Given the description of an element on the screen output the (x, y) to click on. 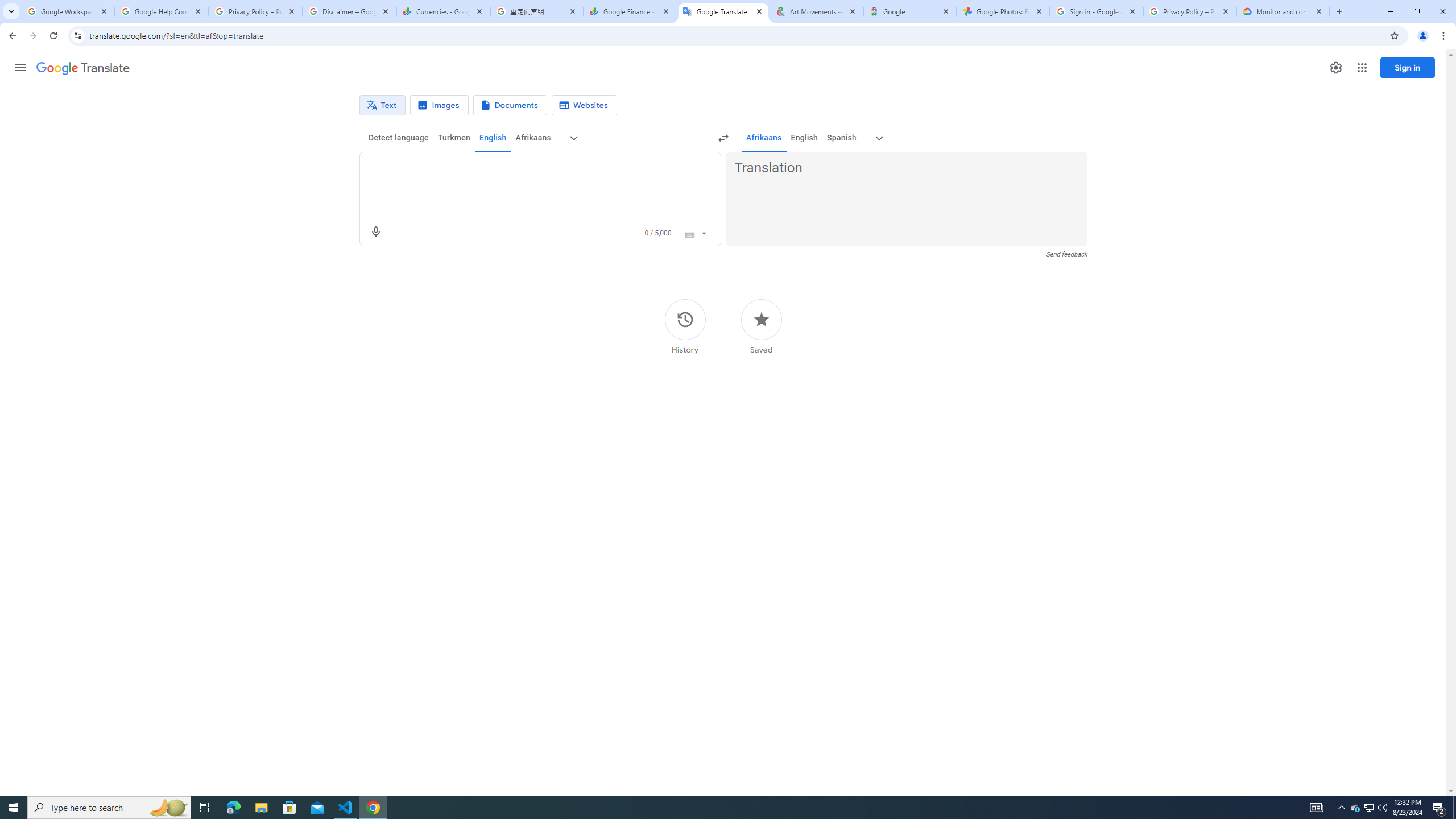
Document translation (510, 105)
English (804, 137)
Saved (761, 326)
Sign in - Google Accounts (1096, 11)
More target languages (879, 137)
